Given the description of an element on the screen output the (x, y) to click on. 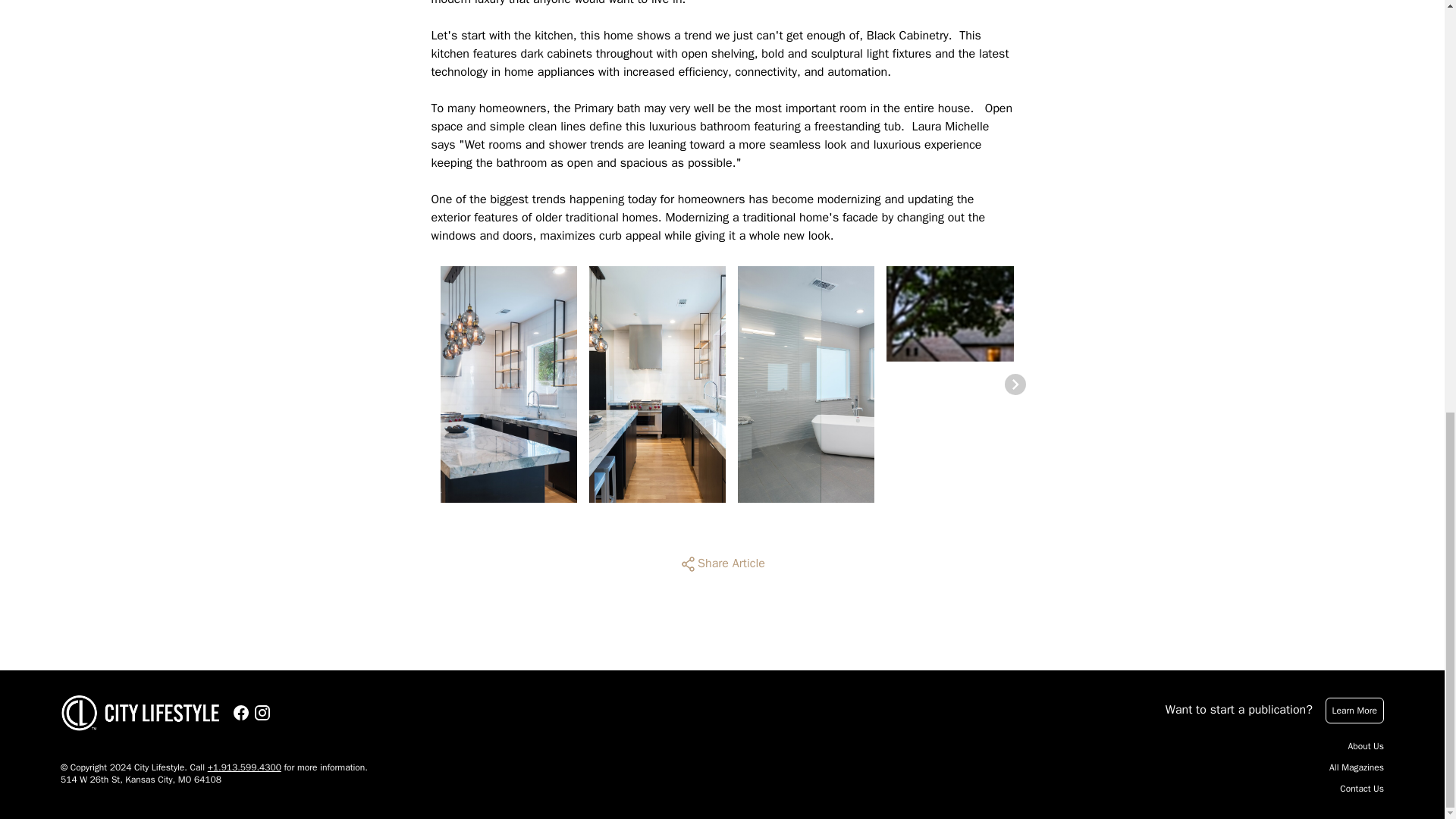
About Us (1366, 746)
Learn More (1354, 710)
Contact Us (1361, 788)
All Magazines (1356, 767)
Share Article (722, 563)
